Given the description of an element on the screen output the (x, y) to click on. 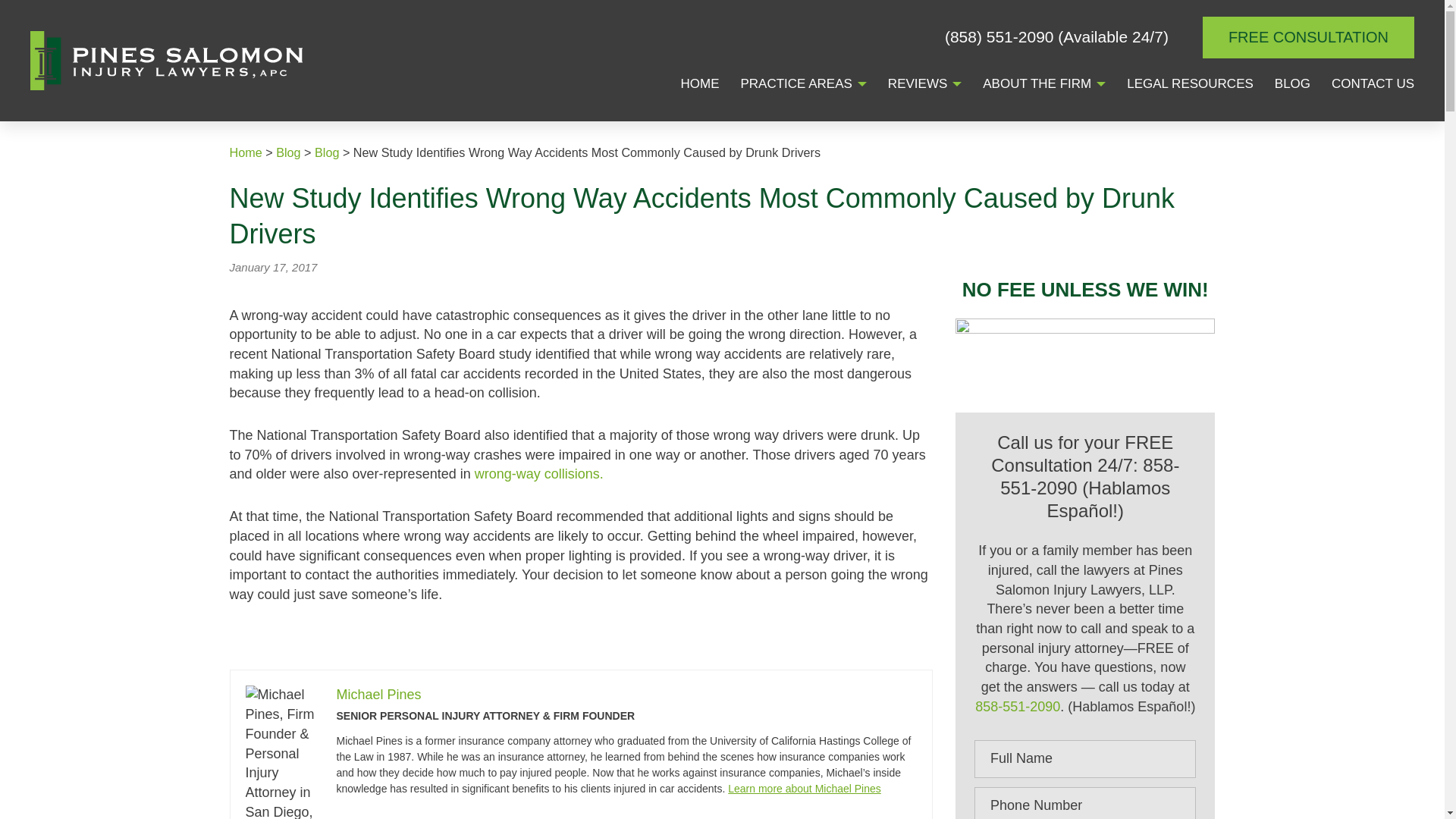
Go to the Blog Category archives. (326, 151)
FREE CONSULTATION (1307, 37)
HOME (699, 85)
PRACTICE AREAS (795, 85)
Go to Pines Salomon Injury Lawyers, LLP. (245, 151)
Go to Blog. (287, 151)
